Given the description of an element on the screen output the (x, y) to click on. 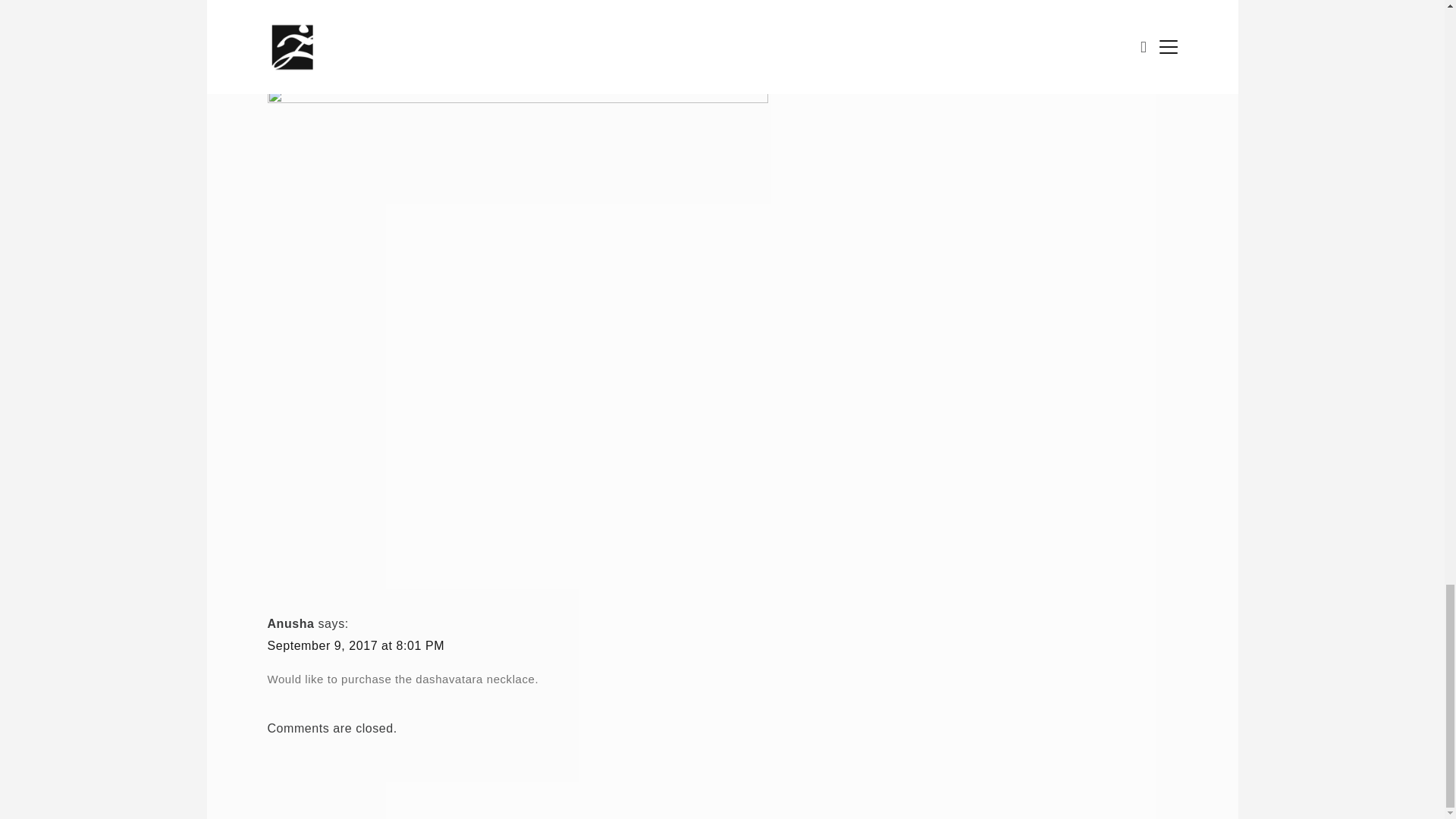
September 9, 2017 at 8:01 PM (355, 645)
